Given the description of an element on the screen output the (x, y) to click on. 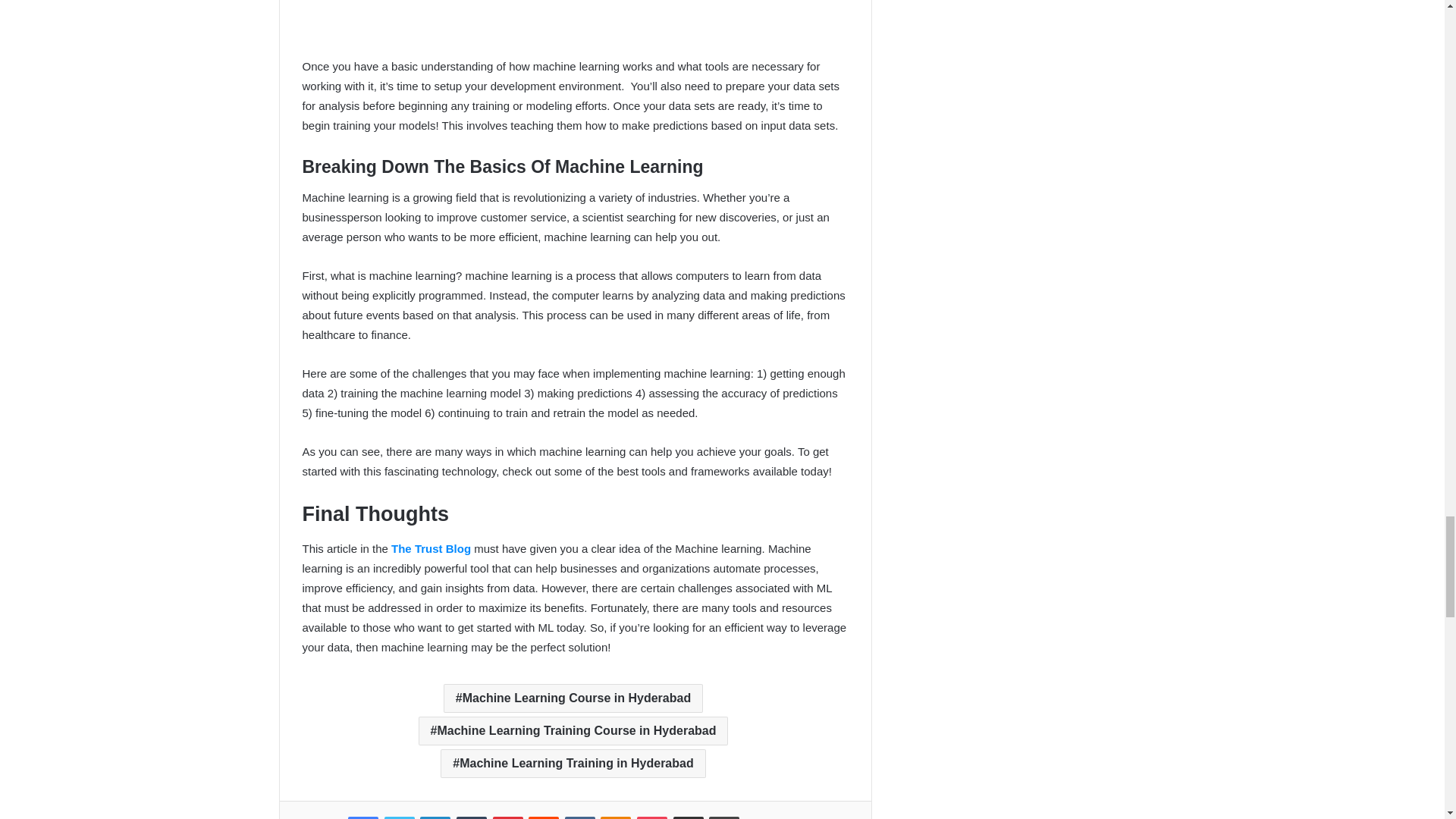
Twitter (399, 817)
Machine Learning Training Course in Hyderabad (574, 730)
Machine Learning Training in Hyderabad (572, 763)
Facebook (362, 817)
LinkedIn (434, 817)
Machine Learning Course in Hyderabad (573, 697)
Tumblr (471, 817)
Facebook (362, 817)
The Trust Blog (430, 548)
Pinterest (507, 817)
Odnoklassniki (614, 817)
Reddit (543, 817)
Pocket (651, 817)
VKontakte (579, 817)
